Given the description of an element on the screen output the (x, y) to click on. 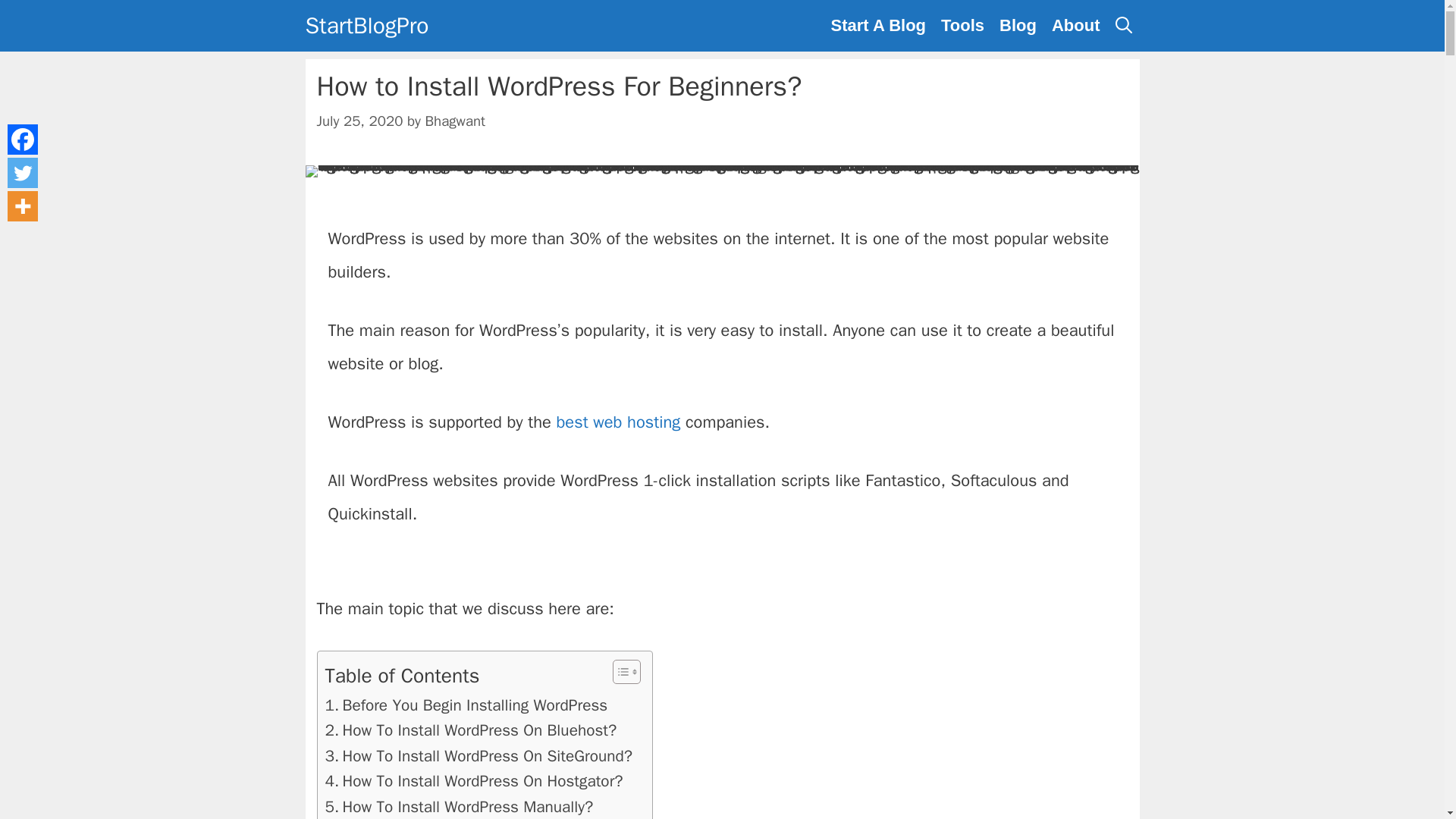
How To Install WordPress Manually? (458, 806)
How To Install WordPress On Bluehost? (469, 730)
How To Install WordPress On Hostgator? (473, 781)
Bhagwant (455, 121)
How To Install WordPress On Bluehost? (469, 730)
Tools (962, 25)
Blog (1017, 25)
Before You Begin Installing WordPress (465, 705)
About (1075, 25)
best web hosting (617, 422)
Start A Blog (878, 25)
View all posts by Bhagwant (455, 121)
StartBlogPro (366, 25)
How To Install WordPress Manually? (458, 806)
